Given the description of an element on the screen output the (x, y) to click on. 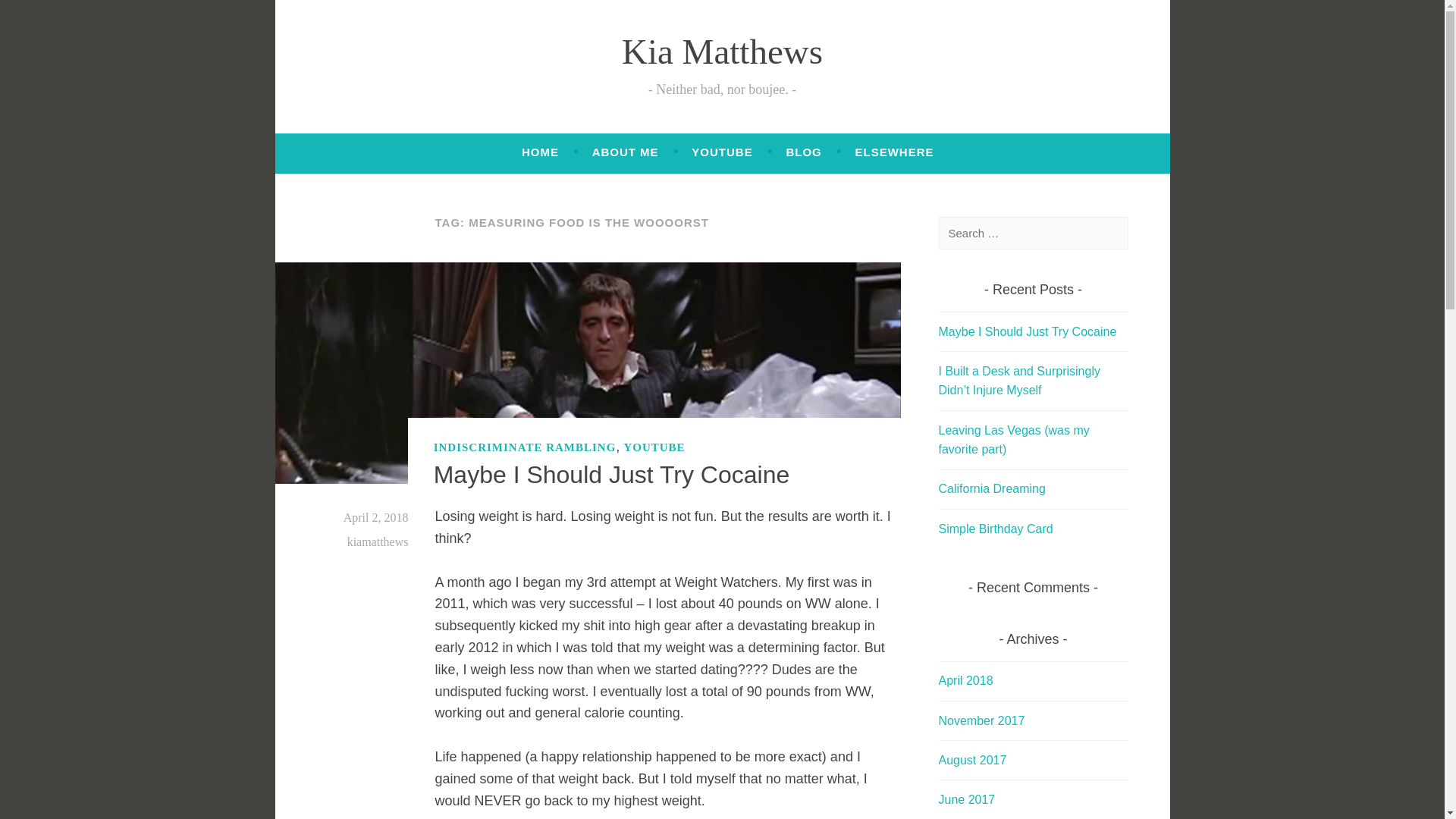
Maybe I Should Just Try Cocaine (611, 474)
Search (37, 15)
ELSEWHERE (893, 152)
HOME (540, 152)
BLOG (803, 152)
ABOUT ME (625, 152)
kiamatthews (378, 541)
June 2017 (967, 799)
YOUTUBE (721, 152)
August 2017 (973, 759)
April 2, 2018 (376, 517)
November 2017 (982, 720)
Kia Matthews (721, 51)
INDISCRIMINATE RAMBLING (524, 447)
April 2018 (965, 680)
